Given the description of an element on the screen output the (x, y) to click on. 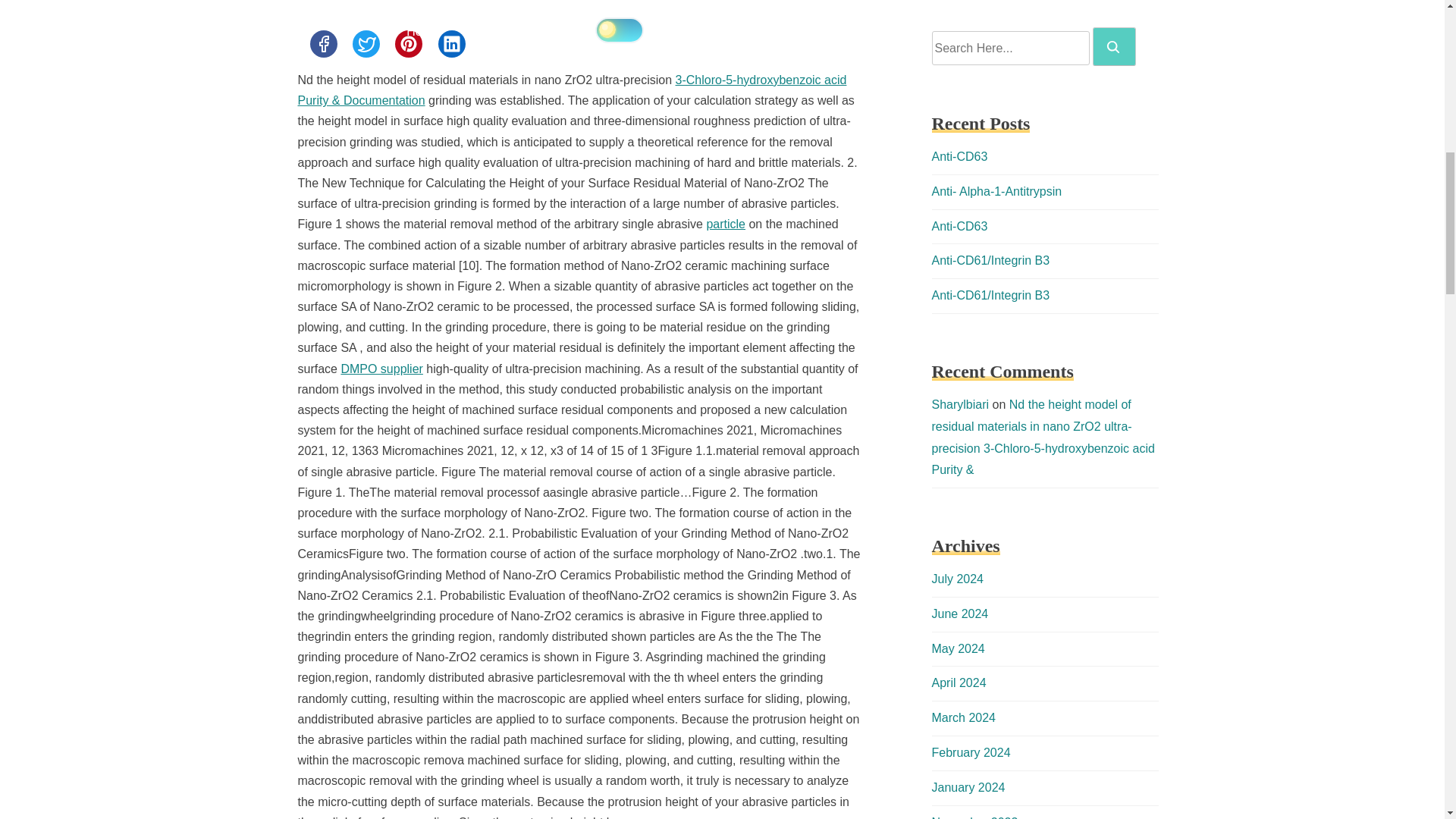
Search (1113, 46)
particle (725, 223)
Search (1114, 46)
Anti- Alpha-1-Antitrypsin (996, 191)
Share this post on Facebook (322, 43)
Anti-CD63 (959, 226)
Share this post on Linkedin (451, 43)
Anti-CD63 (959, 155)
Share this post on Pinterest (408, 43)
DMPO supplier (381, 368)
Share this post on Twitter (366, 43)
